Given the description of an element on the screen output the (x, y) to click on. 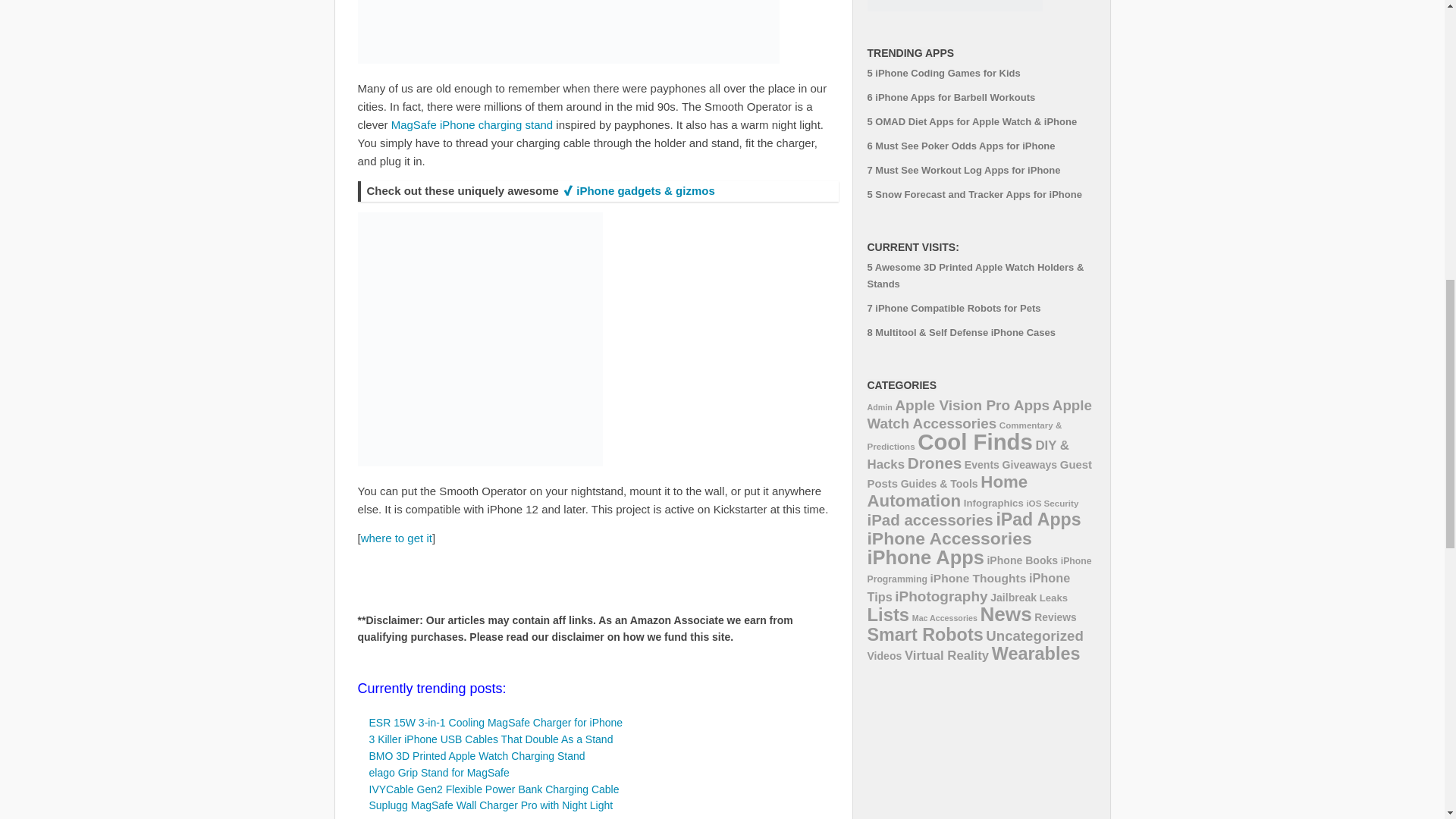
BMO 3D Printed Apple Watch Charging Stand (476, 756)
ESR 15W 3-in-1 Cooling MagSafe Charger for iPhone (495, 722)
3 Killer iPhone USB Cables That Double As a Stand (490, 739)
elago Grip Stand for MagSafe (438, 772)
